Given the description of an element on the screen output the (x, y) to click on. 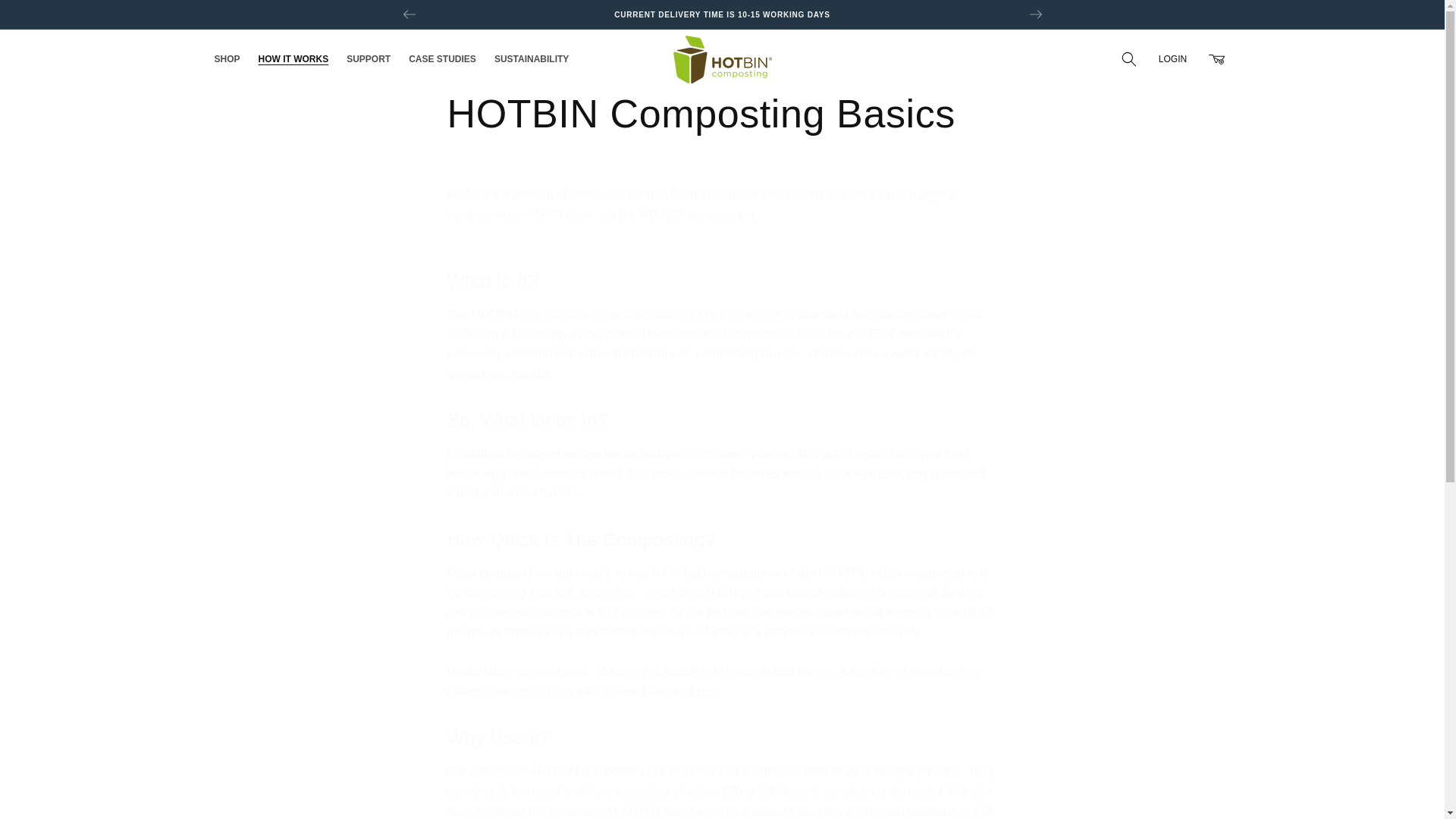
HOW IT WORKS (292, 59)
HOTBIN Composting Basics (721, 114)
SKIP TO CONTENT (45, 17)
CART (1216, 59)
SUSTAINABILITY (531, 59)
CASE STUDIES (441, 59)
LOGIN (1172, 59)
